Given the description of an element on the screen output the (x, y) to click on. 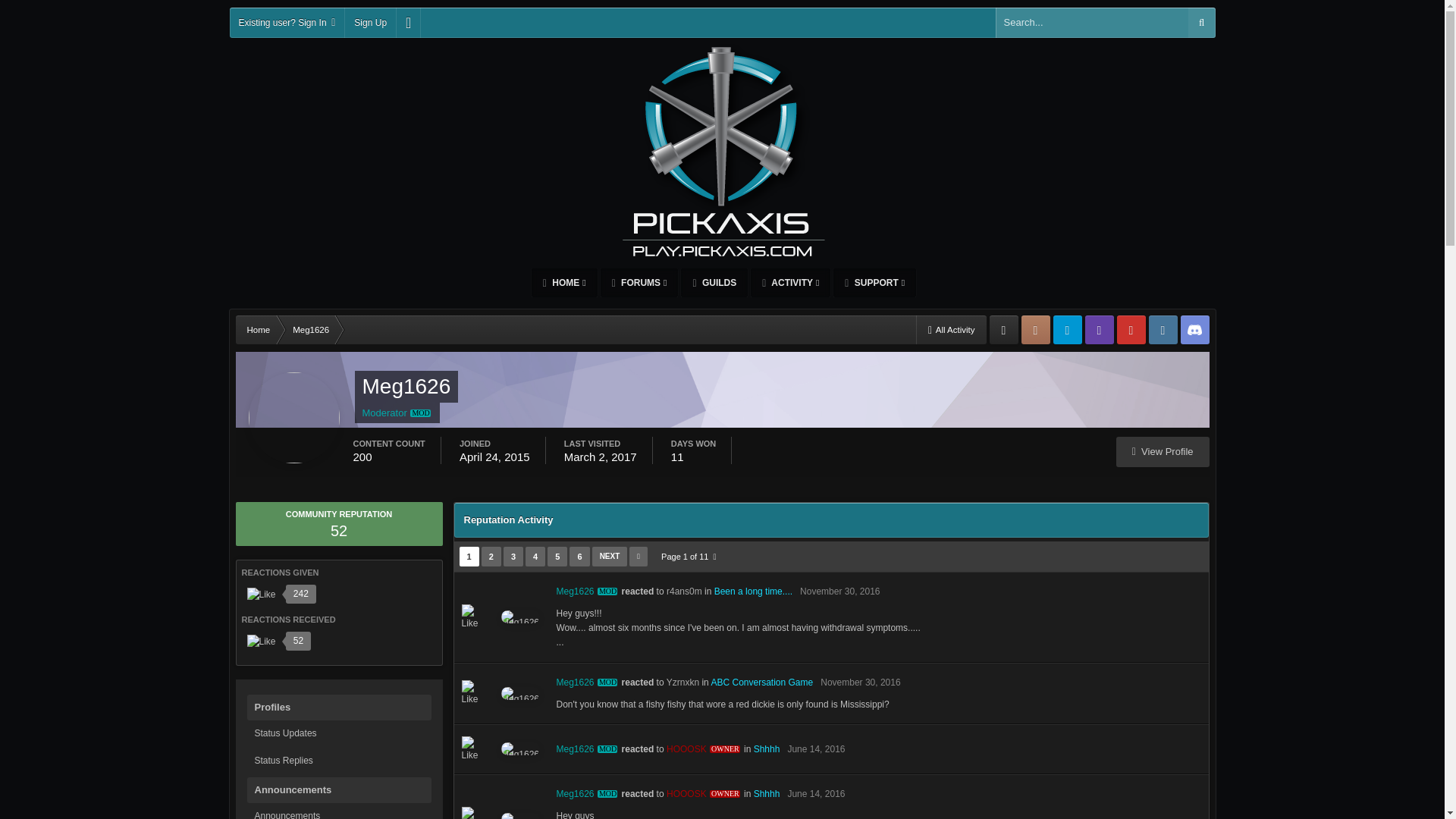
Sign Up (370, 22)
Last page (637, 556)
FORUMS (638, 282)
SUPPORT (873, 282)
HOME (563, 282)
Next page (609, 556)
Go to Meg1626's profile (588, 591)
Home (257, 329)
ACTIVITY (790, 282)
